Given the description of an element on the screen output the (x, y) to click on. 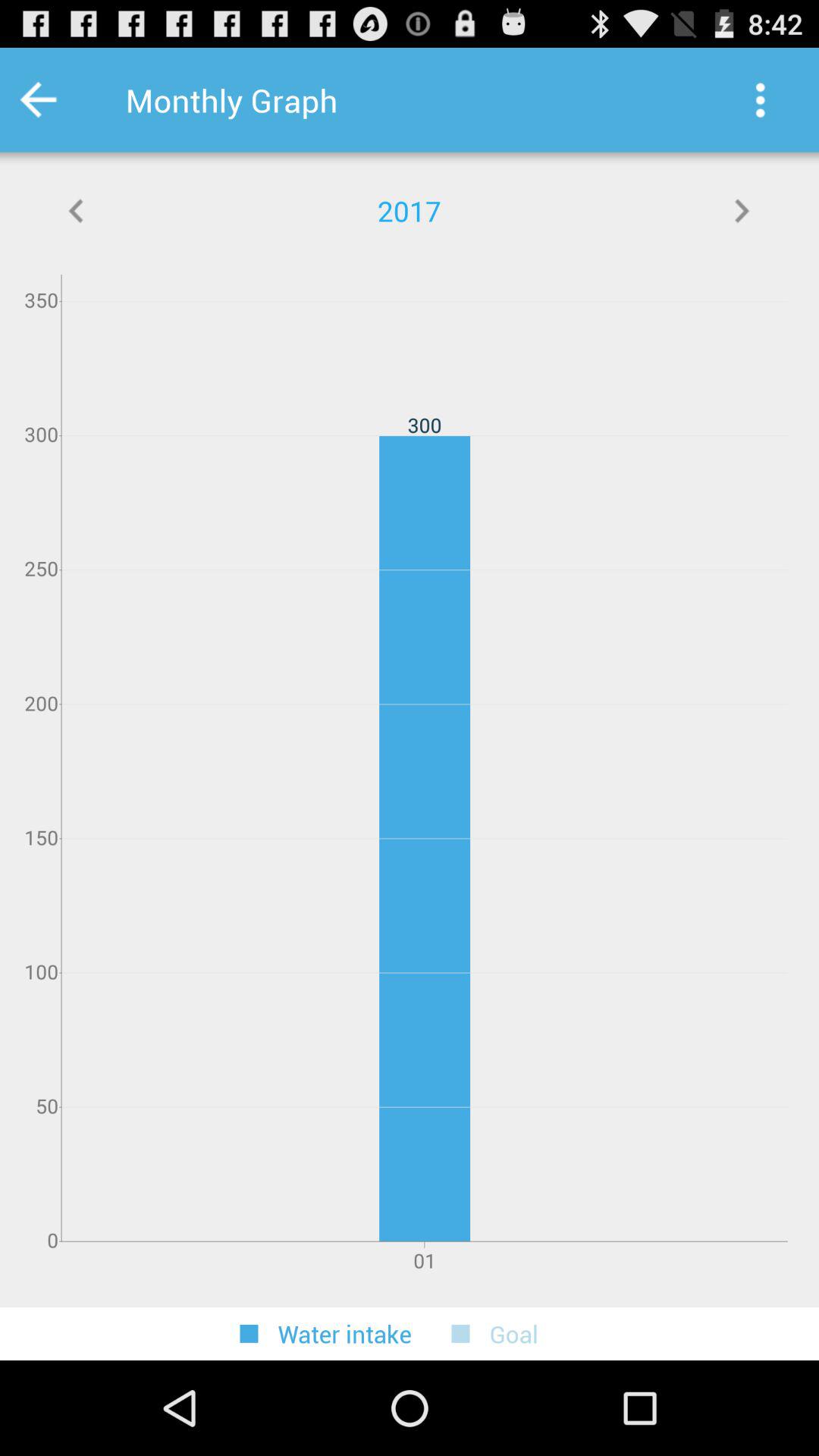
press item next to 2017 app (76, 210)
